Given the description of an element on the screen output the (x, y) to click on. 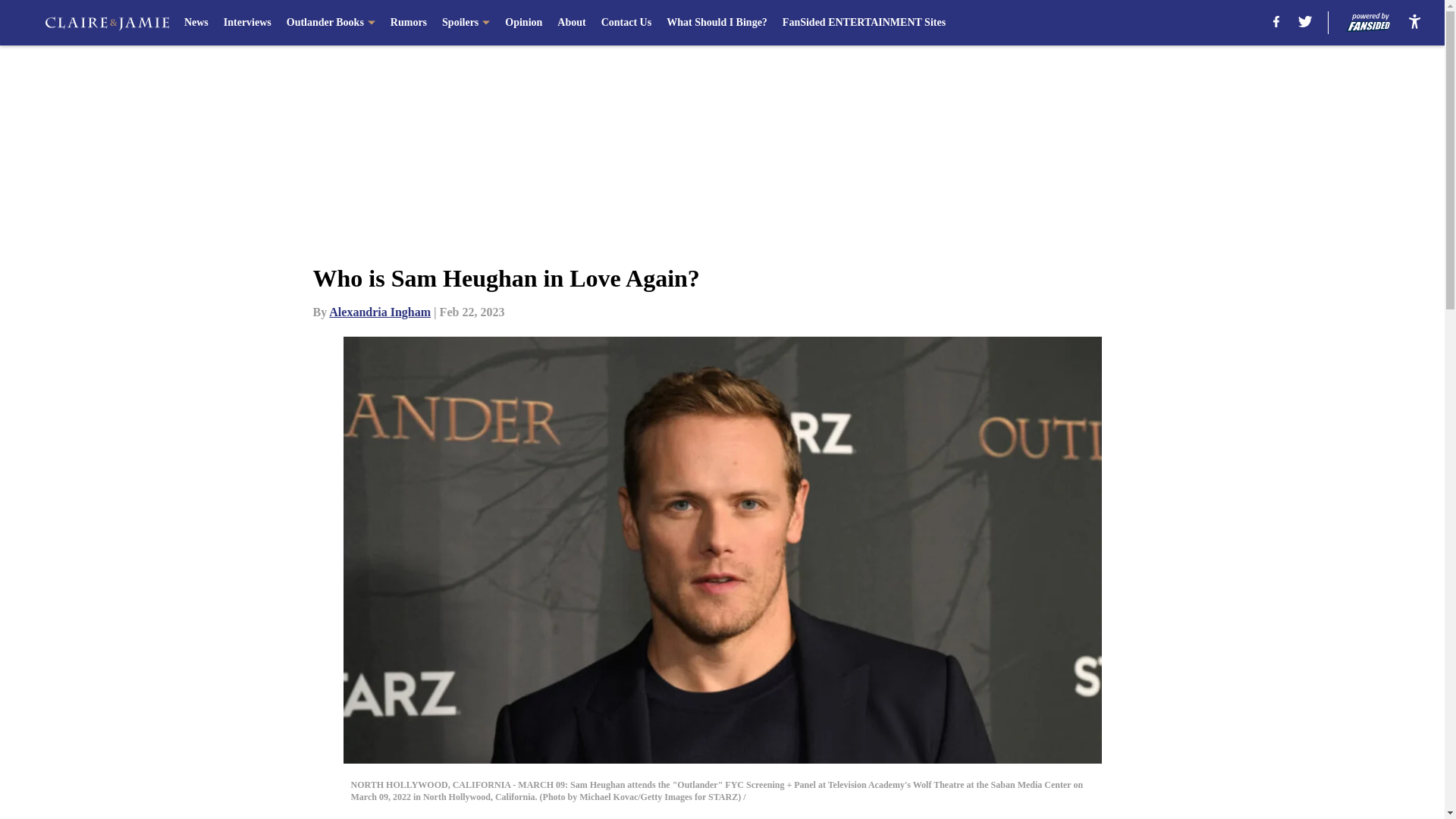
Alexandria Ingham (379, 311)
FanSided ENTERTAINMENT Sites (863, 22)
Opinion (523, 22)
Contact Us (626, 22)
What Should I Binge? (716, 22)
News (196, 22)
Interviews (247, 22)
About (571, 22)
Rumors (408, 22)
